Given the description of an element on the screen output the (x, y) to click on. 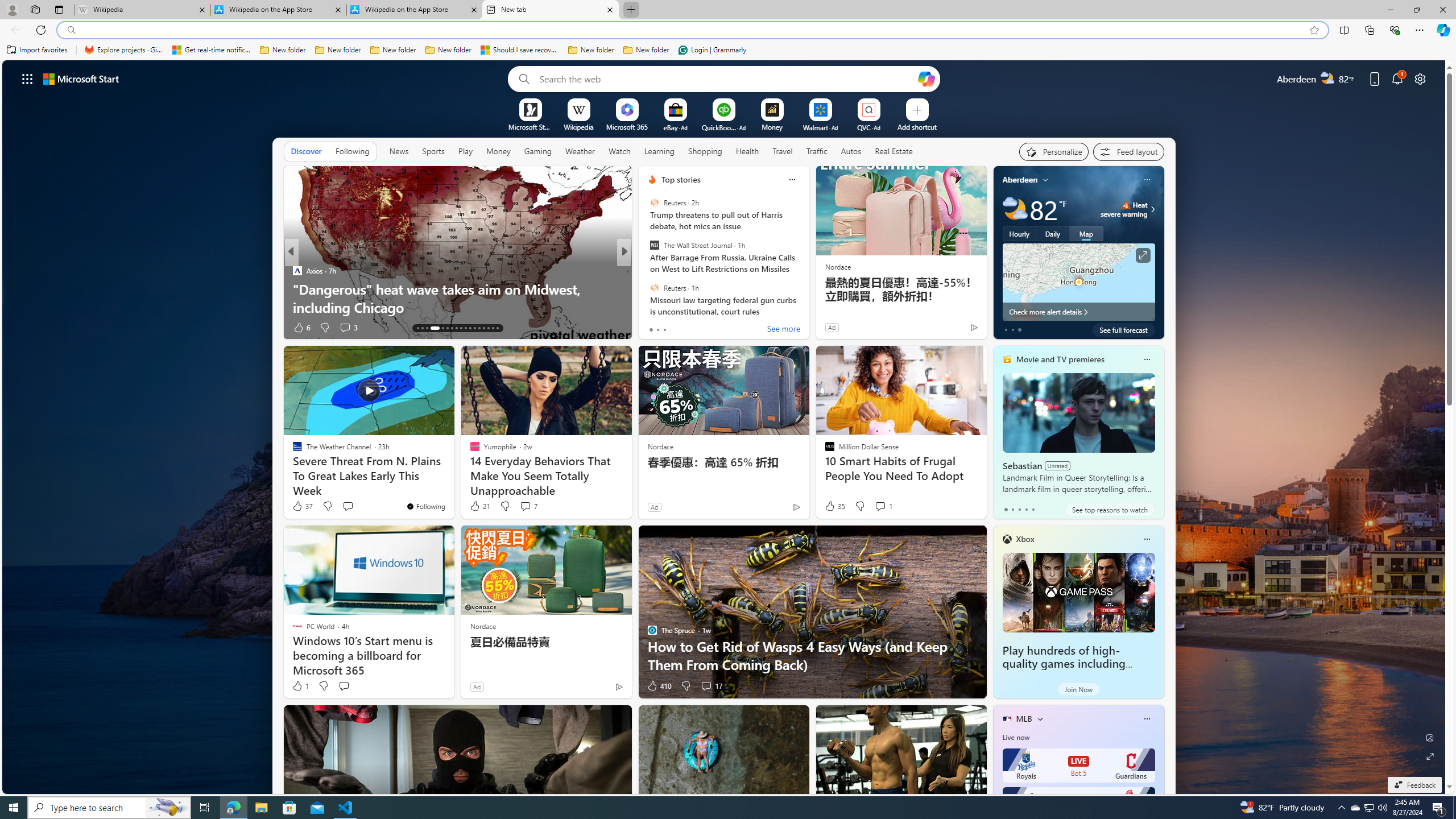
Heat - Severe Heat severe warning (1123, 208)
Add a site (916, 126)
Login | Grammarly (712, 49)
Click to see more information (1142, 255)
View comments 339 Comment (709, 327)
AutomationID: tab-20 (456, 328)
Page settings (1420, 78)
AutomationID: tab-25 (478, 328)
Movie and TV premieres (1060, 359)
